Given the description of an element on the screen output the (x, y) to click on. 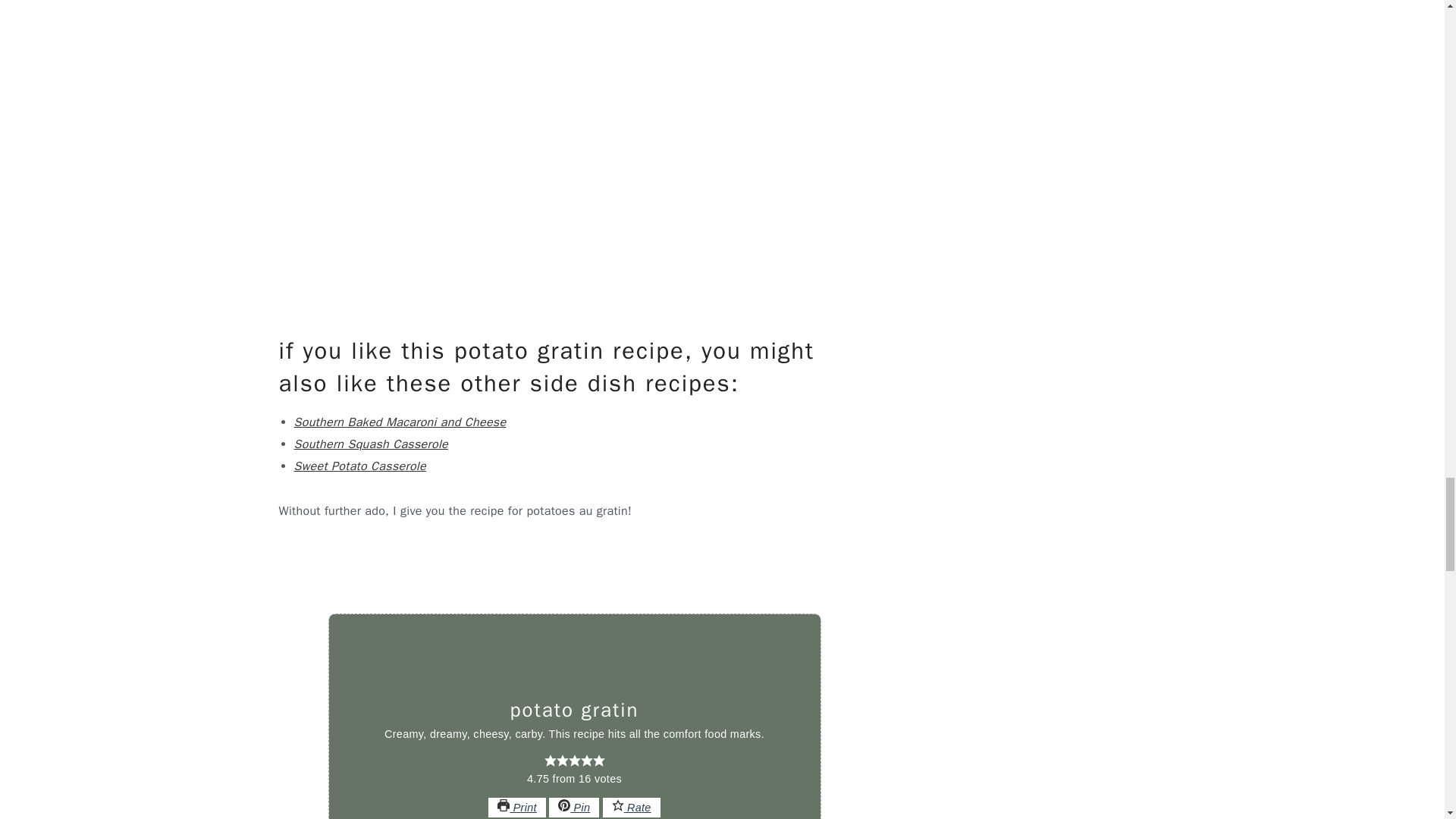
Southern Baked Macaroni and Cheese (400, 421)
Southern Squash Casserole (371, 444)
